Given the description of an element on the screen output the (x, y) to click on. 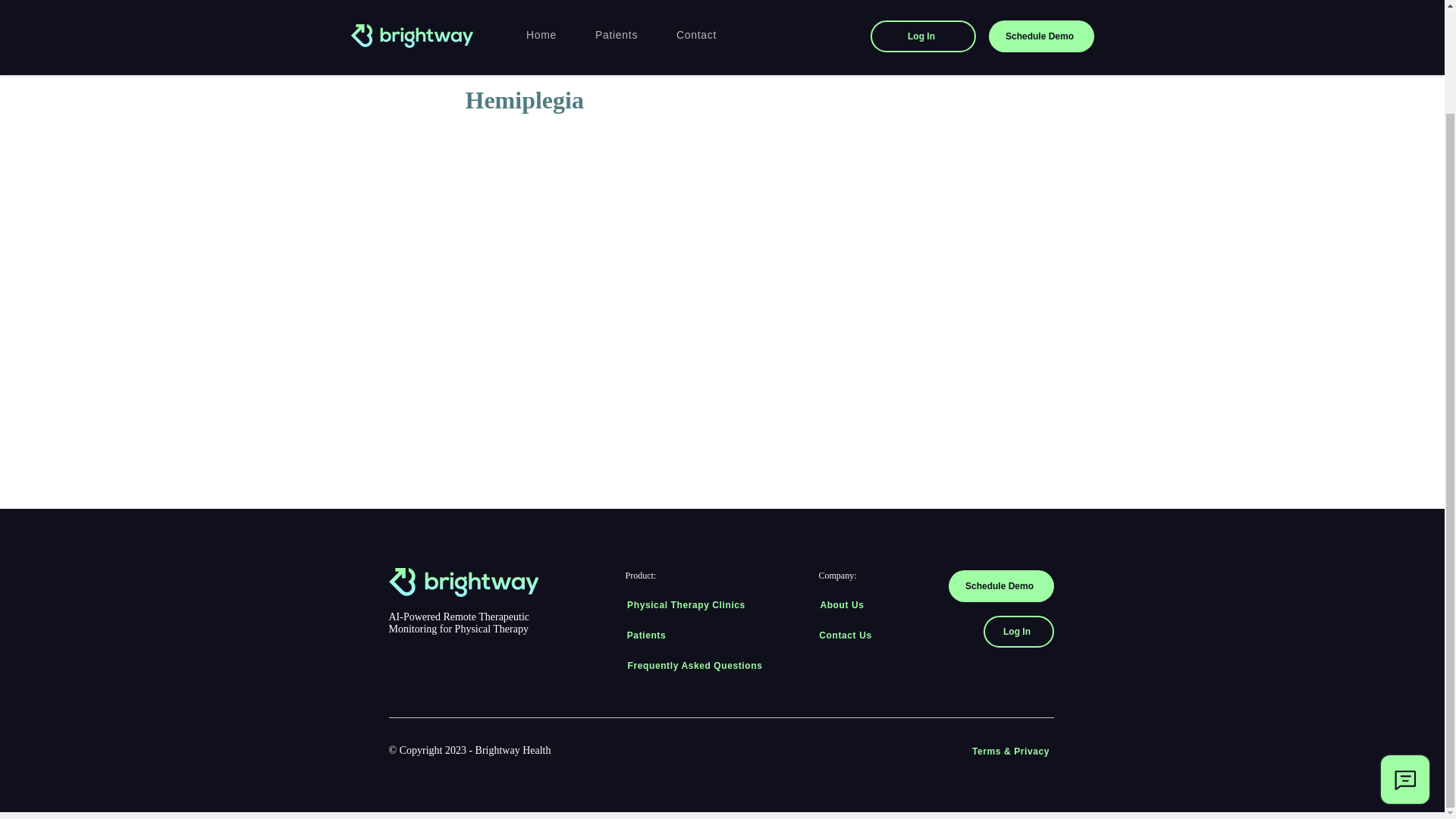
About Us (843, 604)
Frequently Asked Questions (695, 665)
Log In (1017, 631)
Hemiplegia (683, 25)
Physical Therapy Clinics (686, 604)
Patients (646, 634)
Schedule Demo (999, 585)
Contact Us (847, 634)
